Given the description of an element on the screen output the (x, y) to click on. 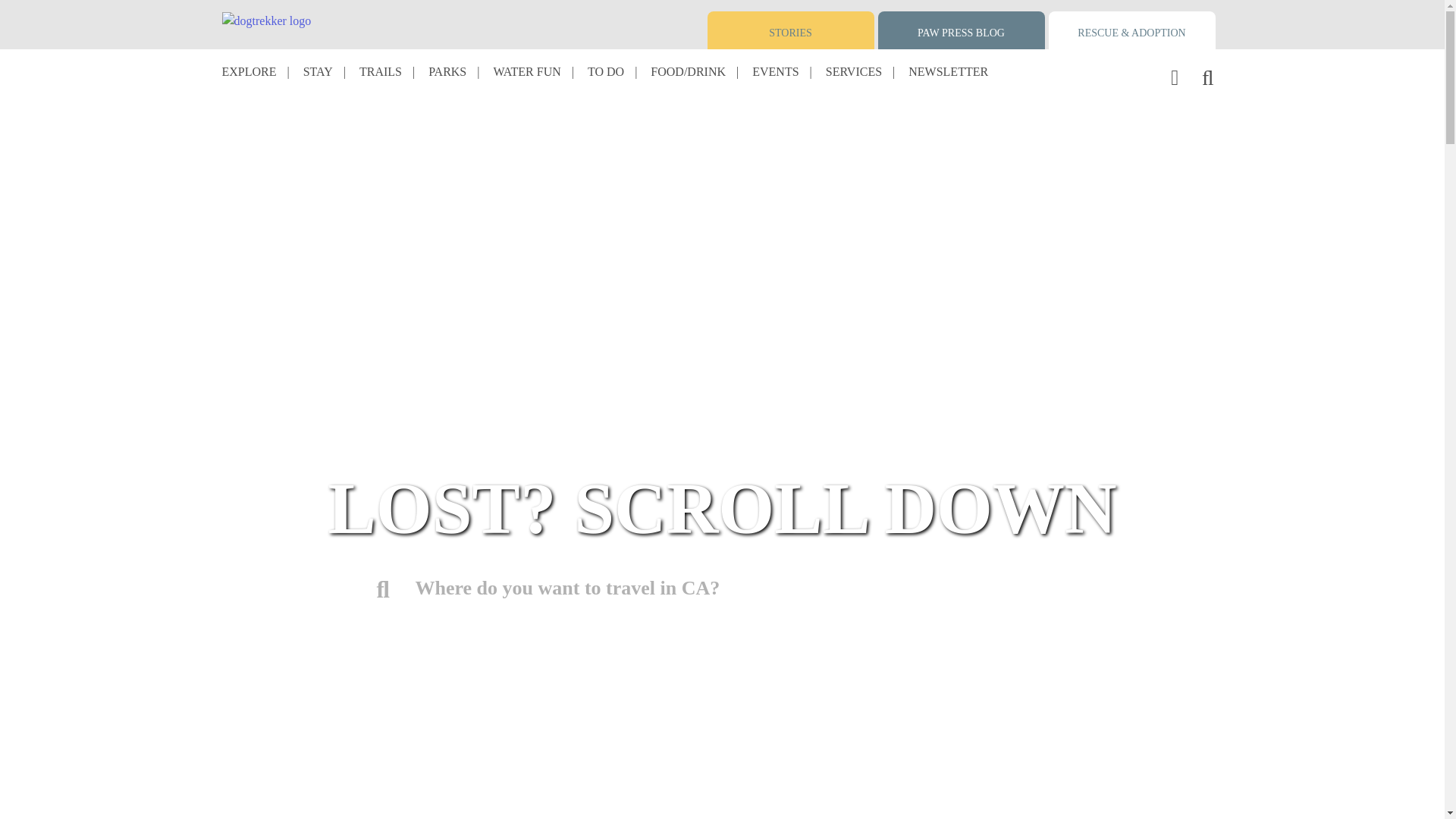
STORIES (789, 30)
EXPLORE (248, 72)
scroll down (721, 708)
WATER FUN (526, 72)
PAW PRESS BLOG (961, 30)
TRAILS (380, 72)
